Given the description of an element on the screen output the (x, y) to click on. 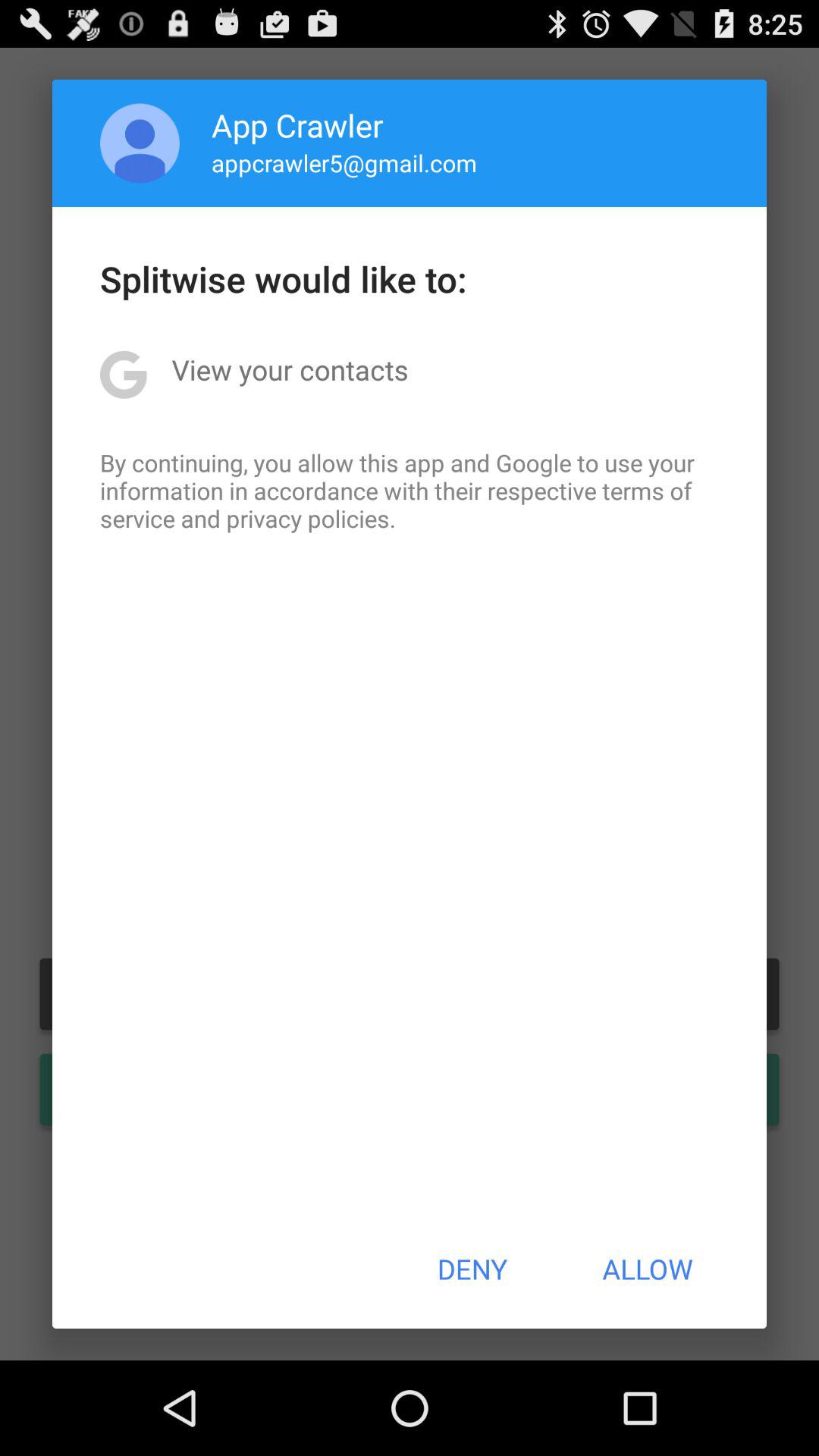
turn on item to the left of the allow (471, 1268)
